Given the description of an element on the screen output the (x, y) to click on. 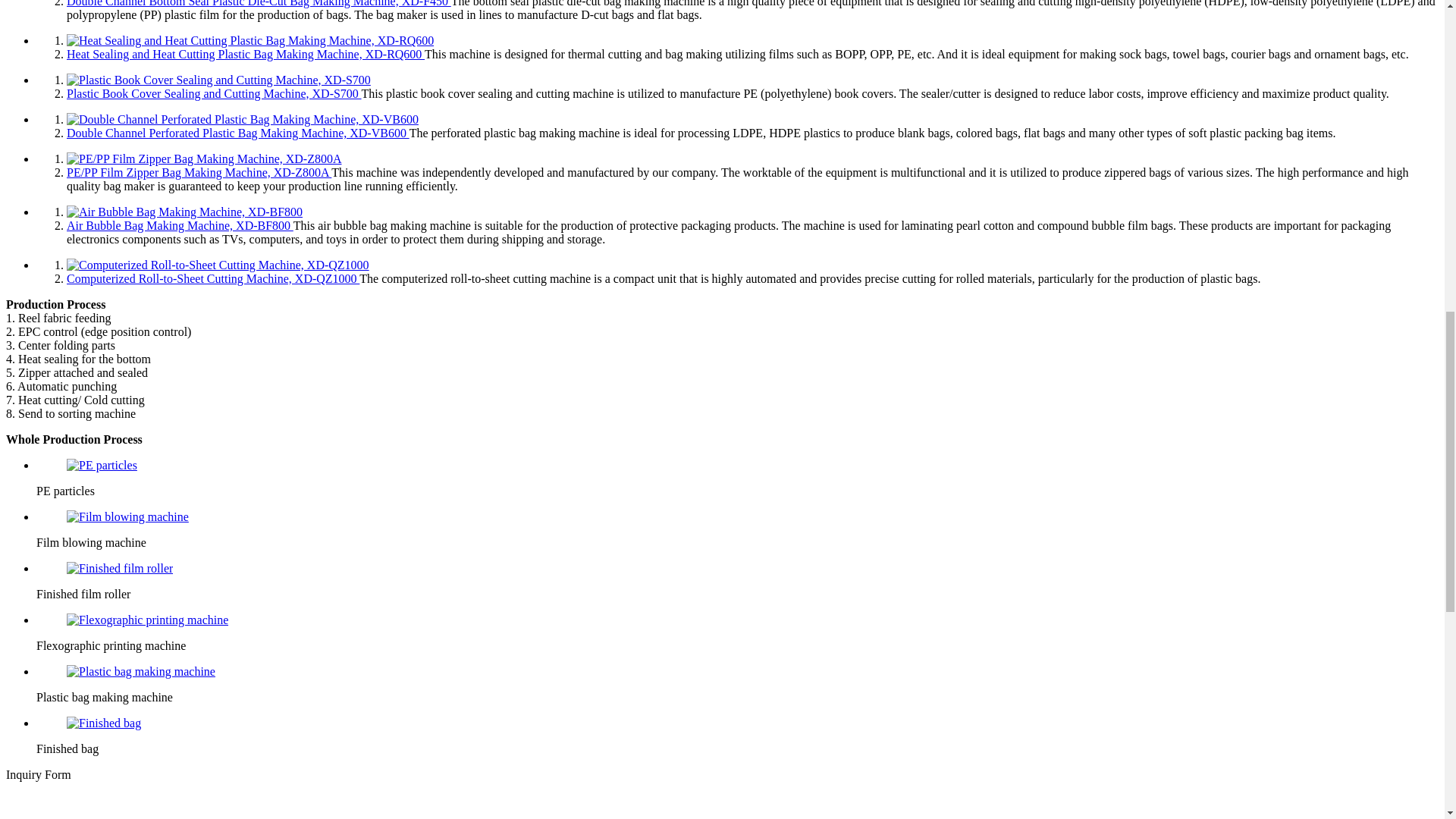
Plastic bag making machine (140, 671)
Air Bubble Bag Making Machine, XD-BF800 (184, 212)
PE particles (101, 465)
Plastic Book Cover Sealing and Cutting Machine, XD-S700 (218, 79)
Finished bag (103, 723)
Finished film roller (119, 568)
Computerized Roll-to-Sheet Cutting Machine, XD-QZ1000 (217, 264)
